Given the description of an element on the screen output the (x, y) to click on. 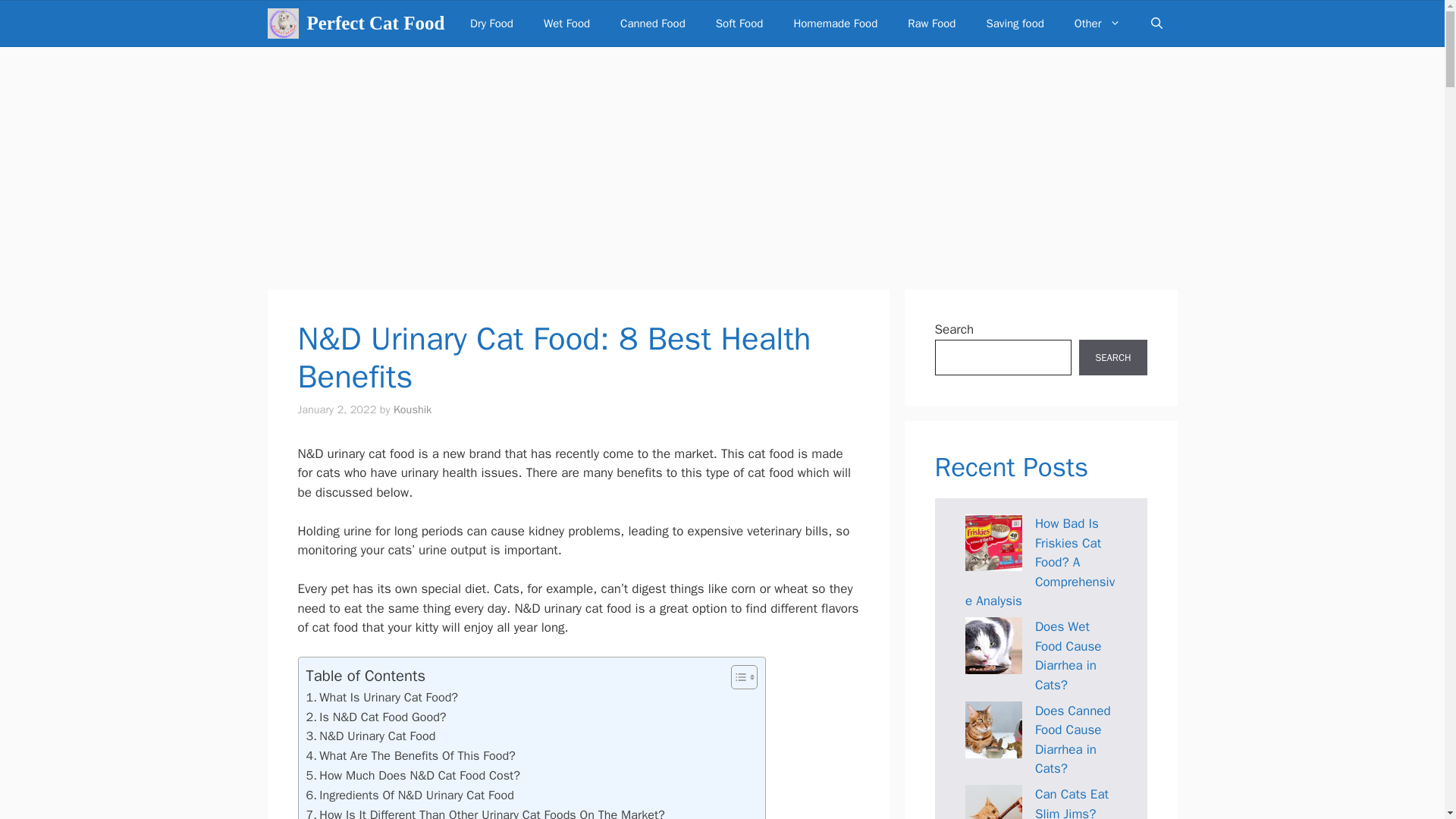
What Are The Benefits Of This Food? (410, 755)
What Are The Benefits Of This Food? (410, 755)
View all posts by Koushik (411, 409)
Canned Food (652, 22)
Koushik (411, 409)
Other (1097, 22)
Saving food (1014, 22)
What Is Urinary Cat Food? (381, 697)
